Given the description of an element on the screen output the (x, y) to click on. 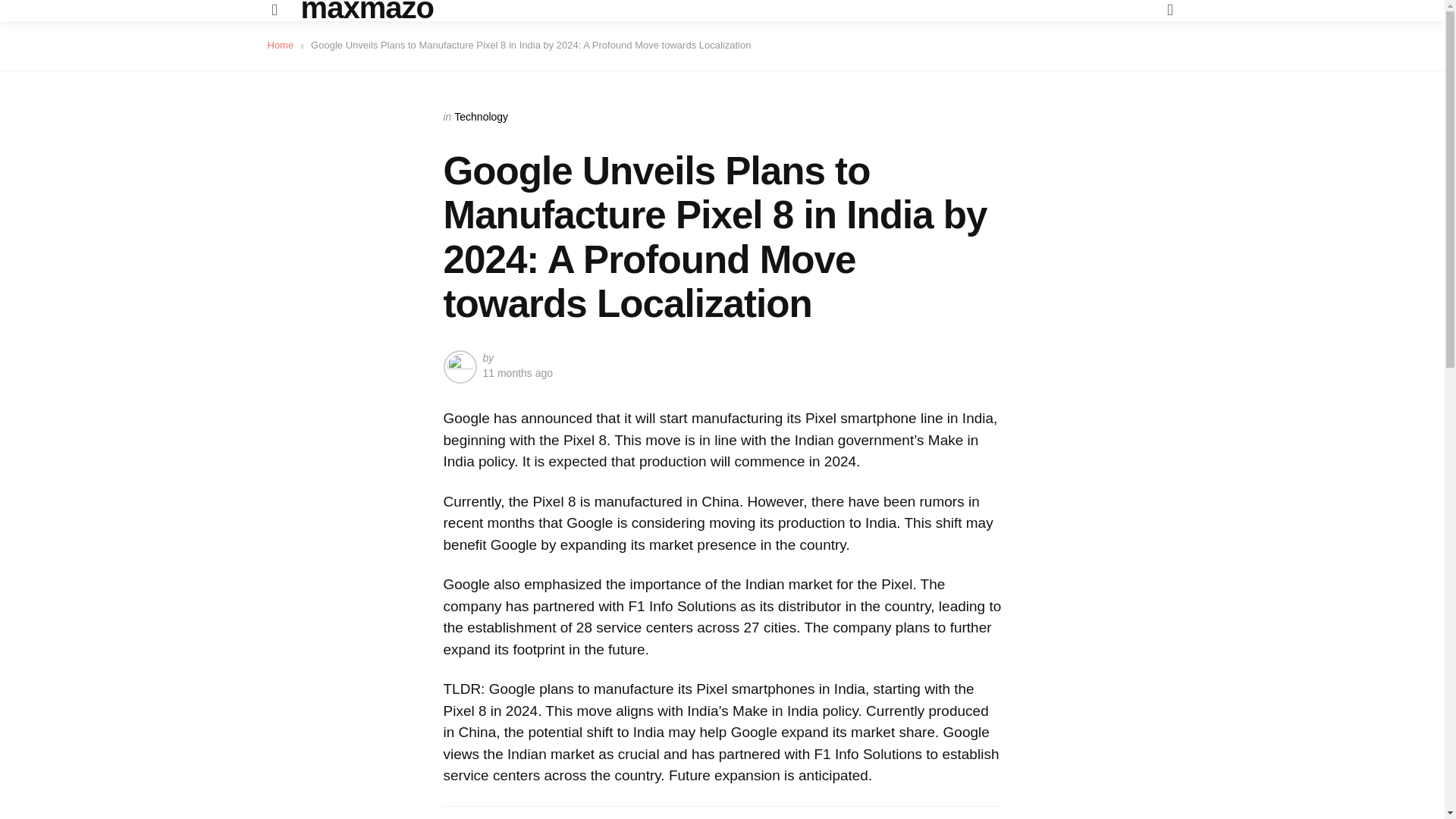
Technology (481, 116)
maxmazo (367, 7)
Home (284, 44)
